Given the description of an element on the screen output the (x, y) to click on. 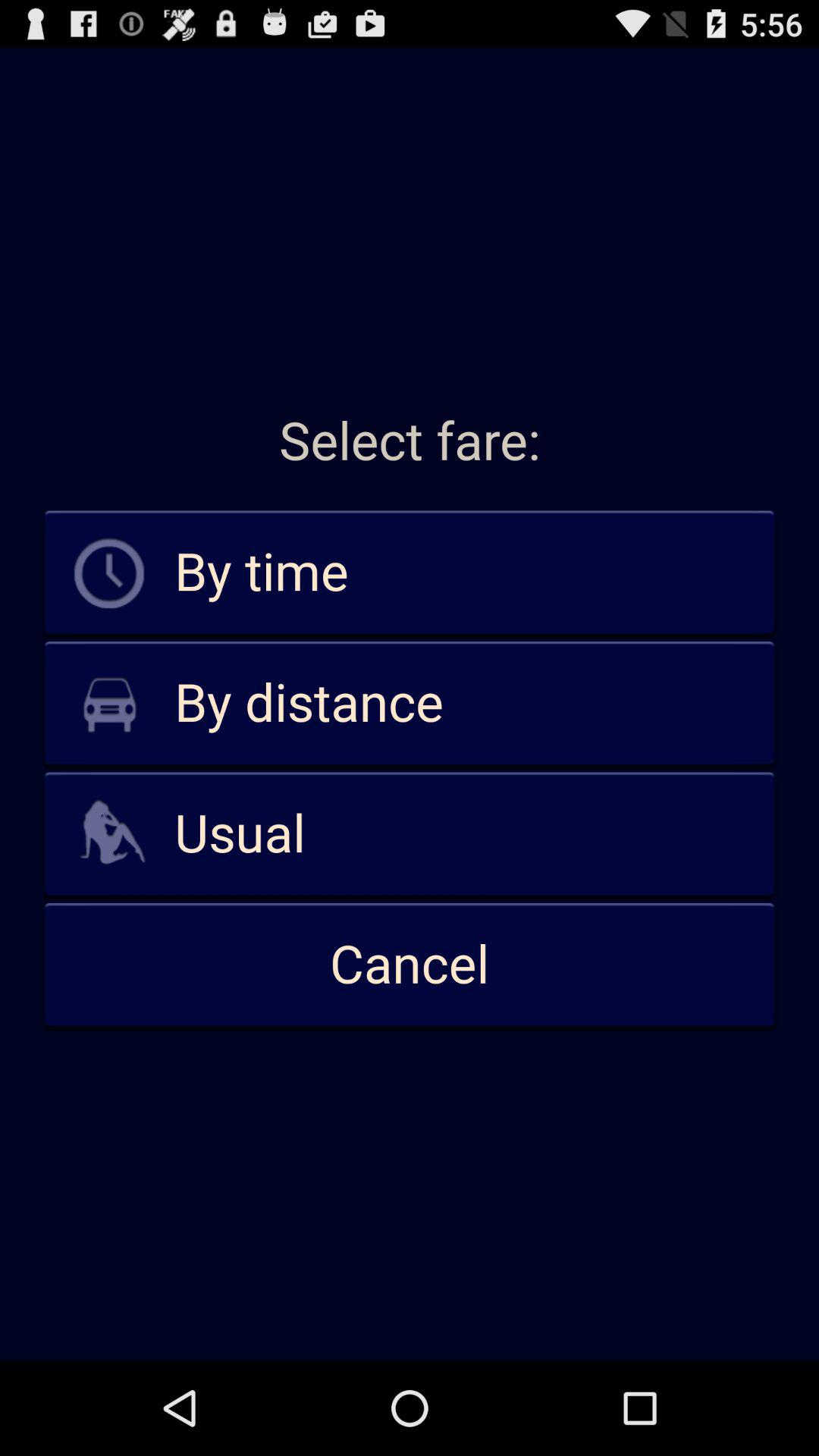
tap the app above usual (409, 703)
